Given the description of an element on the screen output the (x, y) to click on. 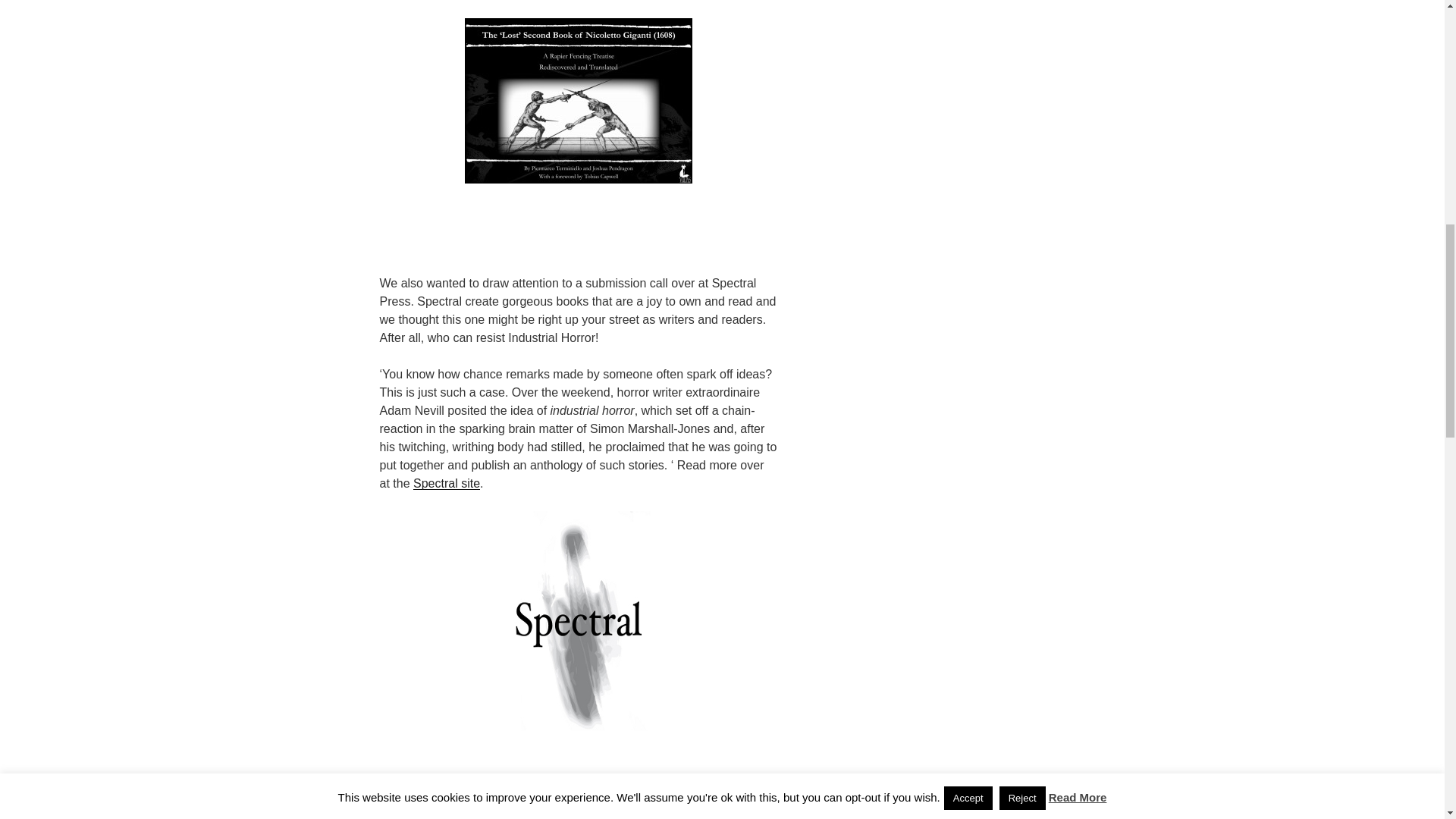
Click to share on Reddit (630, 816)
Click to share on Tumblr (410, 816)
Click to share on Twitter (563, 816)
Click to share on Facebook (486, 816)
